Given the description of an element on the screen output the (x, y) to click on. 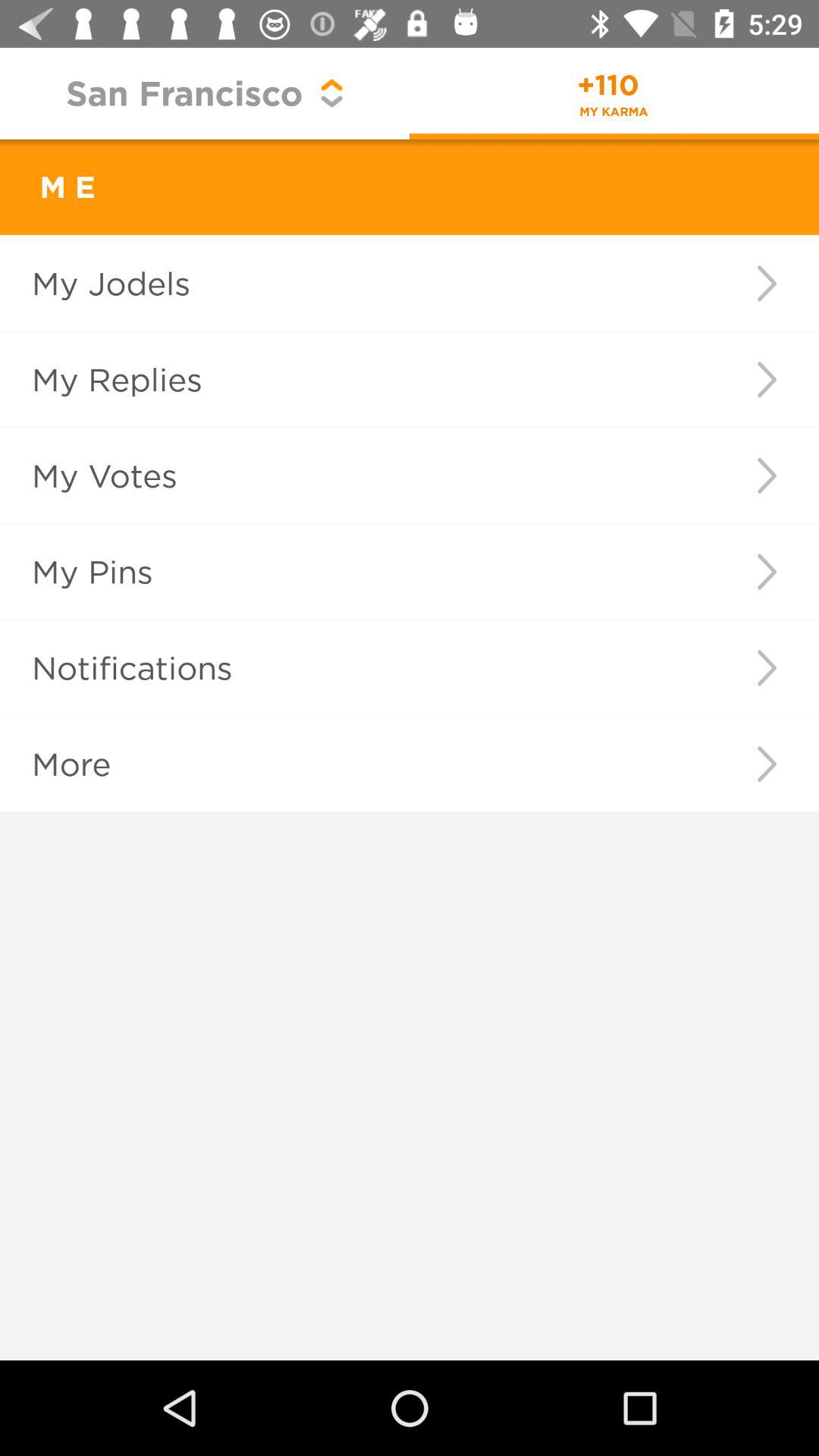
swipe until my votes icon (351, 475)
